Given the description of an element on the screen output the (x, y) to click on. 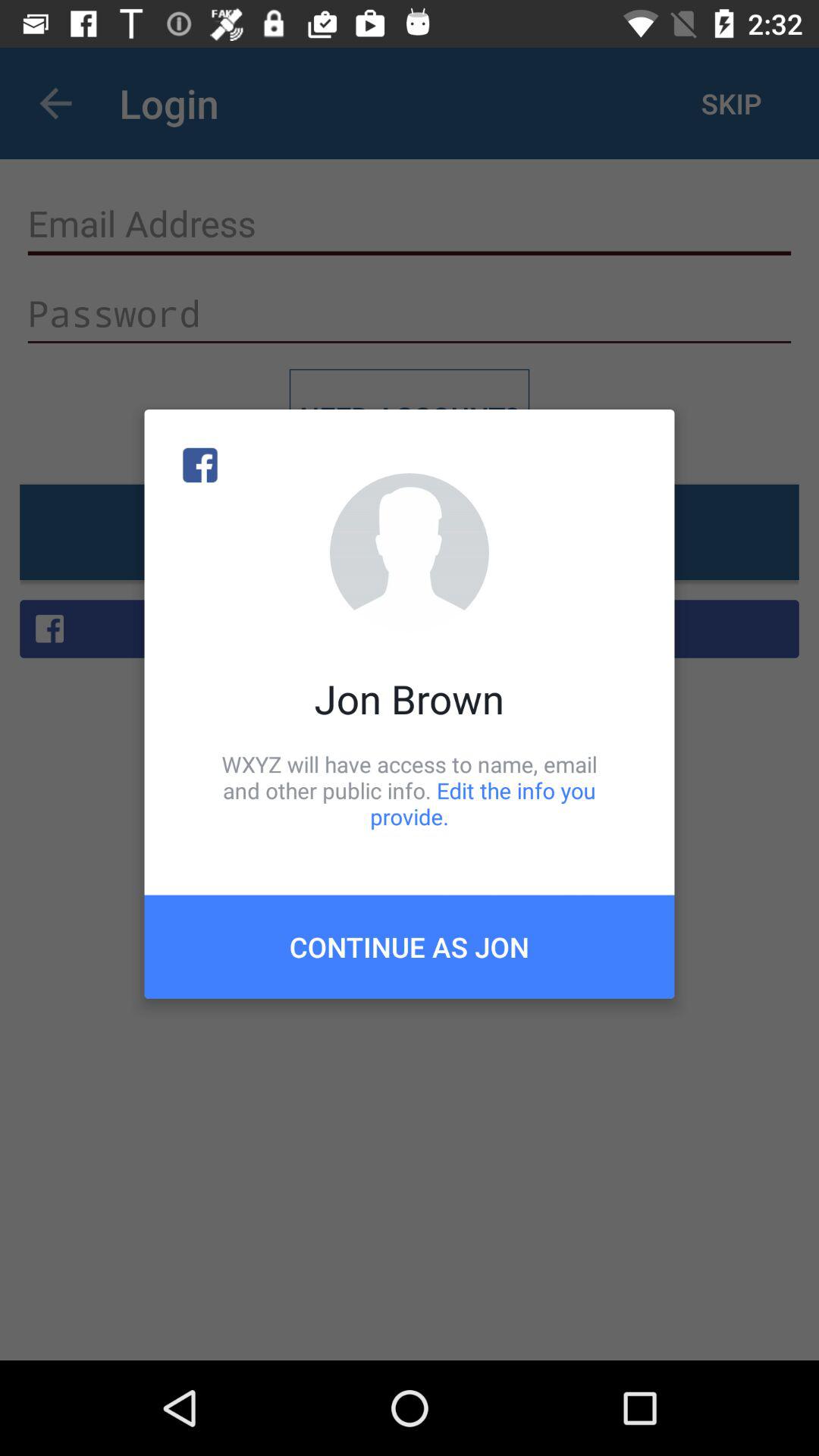
open the item below the jon brown (409, 790)
